Given the description of an element on the screen output the (x, y) to click on. 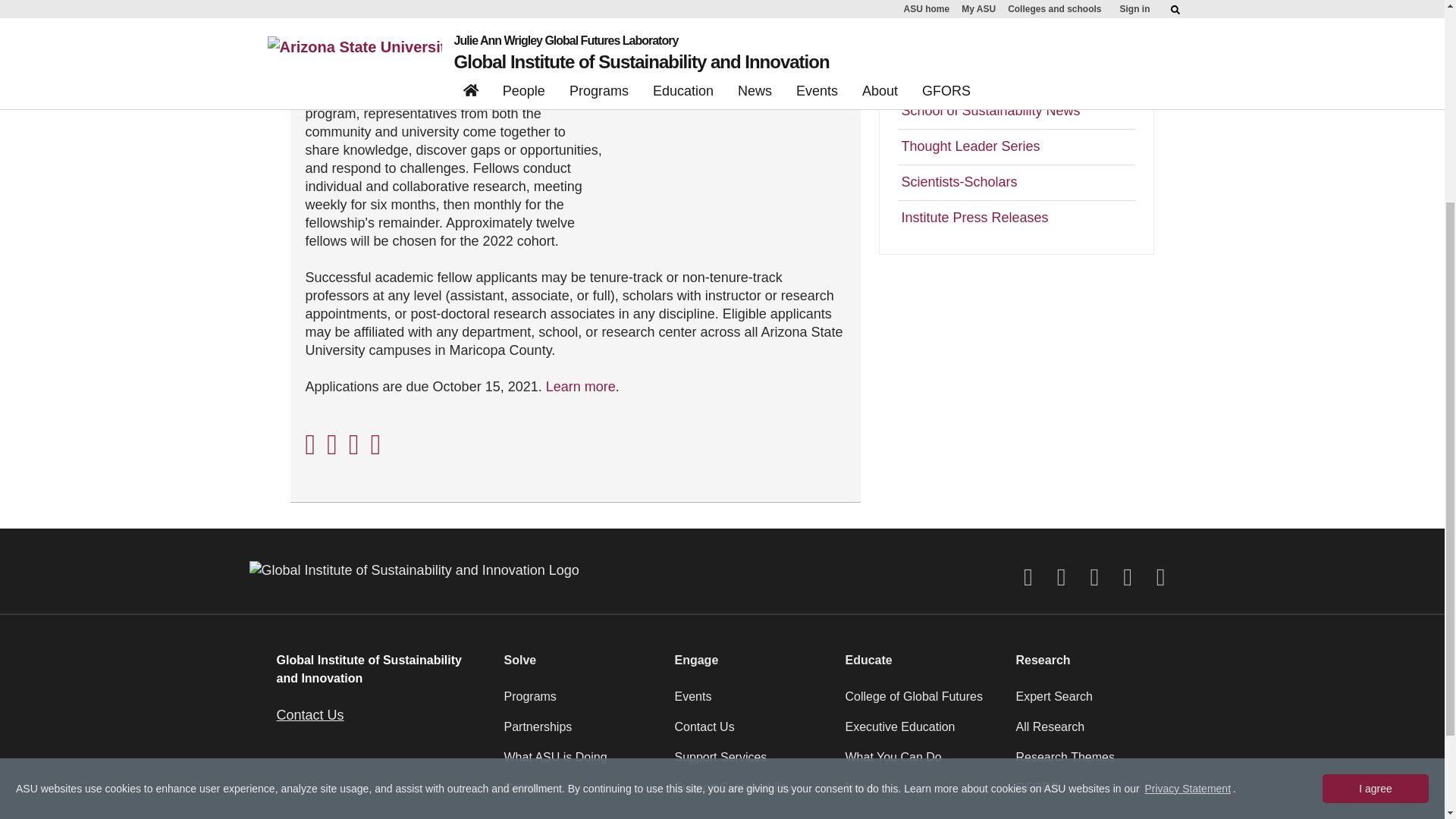
Support Services (751, 763)
Programs (579, 702)
Institute Press Releases (1016, 217)
Thought Leader Series (1016, 146)
Learn more (580, 386)
Executive Education (920, 733)
What You Can Do (920, 763)
Events (751, 702)
Support Sustainability (751, 793)
Scientists-Scholars (1016, 181)
